Given the description of an element on the screen output the (x, y) to click on. 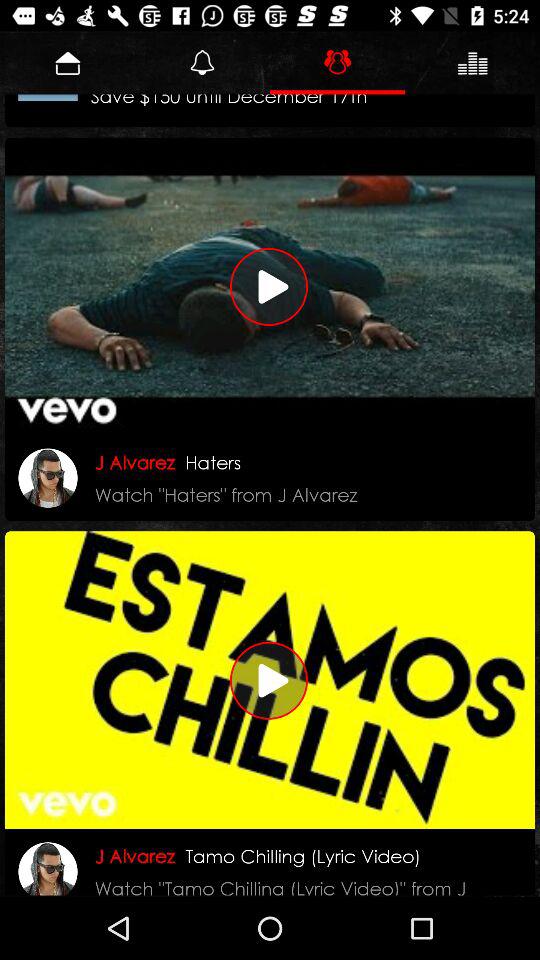
turn off the ste anne s item (238, 108)
